Given the description of an element on the screen output the (x, y) to click on. 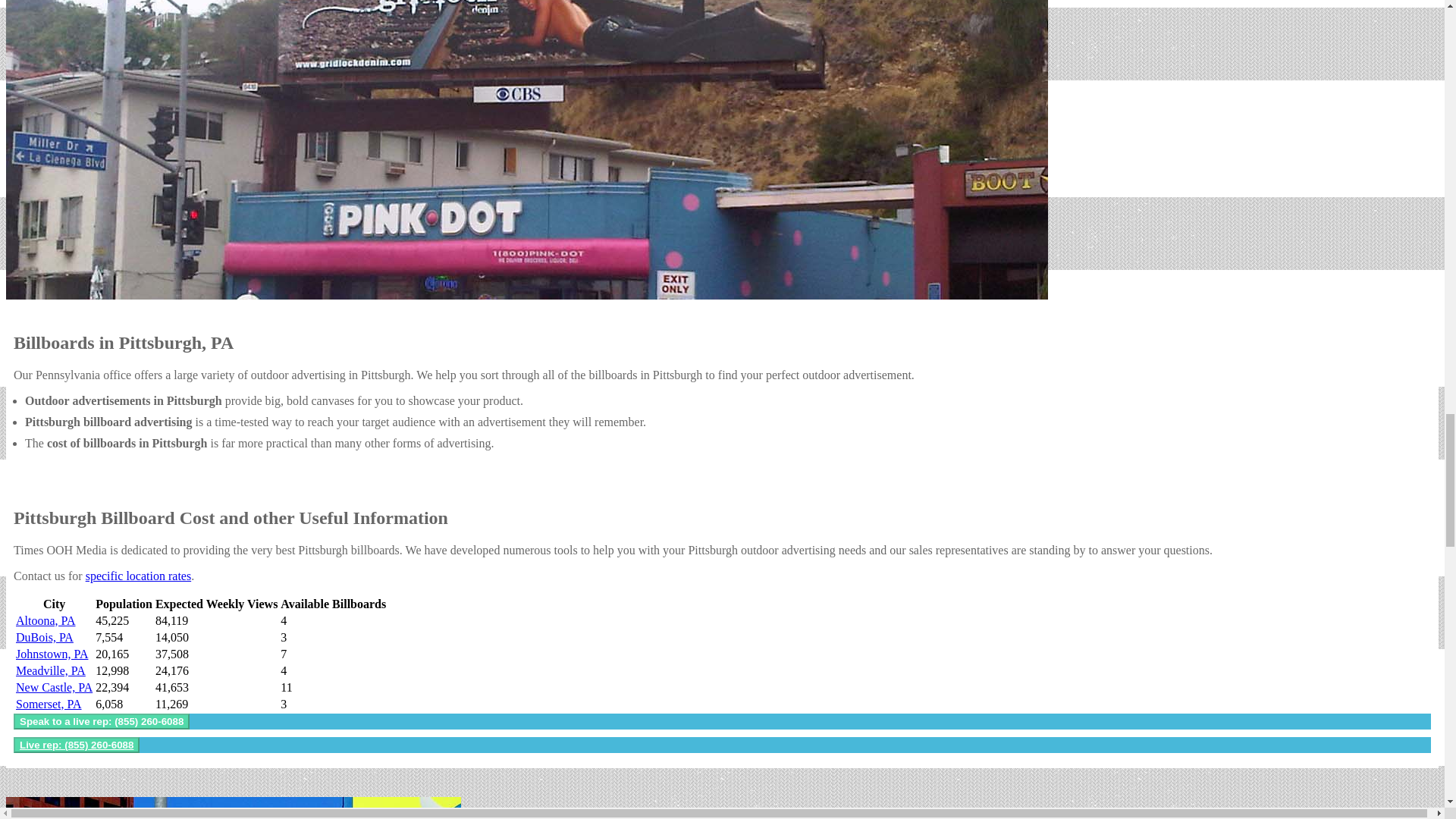
Johnstown, PA (51, 653)
specific location rates (138, 575)
New Castle, PA (54, 686)
DuBois, PA (45, 636)
Somerset, PA (48, 703)
Altoona, PA (45, 620)
Meadville, PA (50, 670)
